Given the description of an element on the screen output the (x, y) to click on. 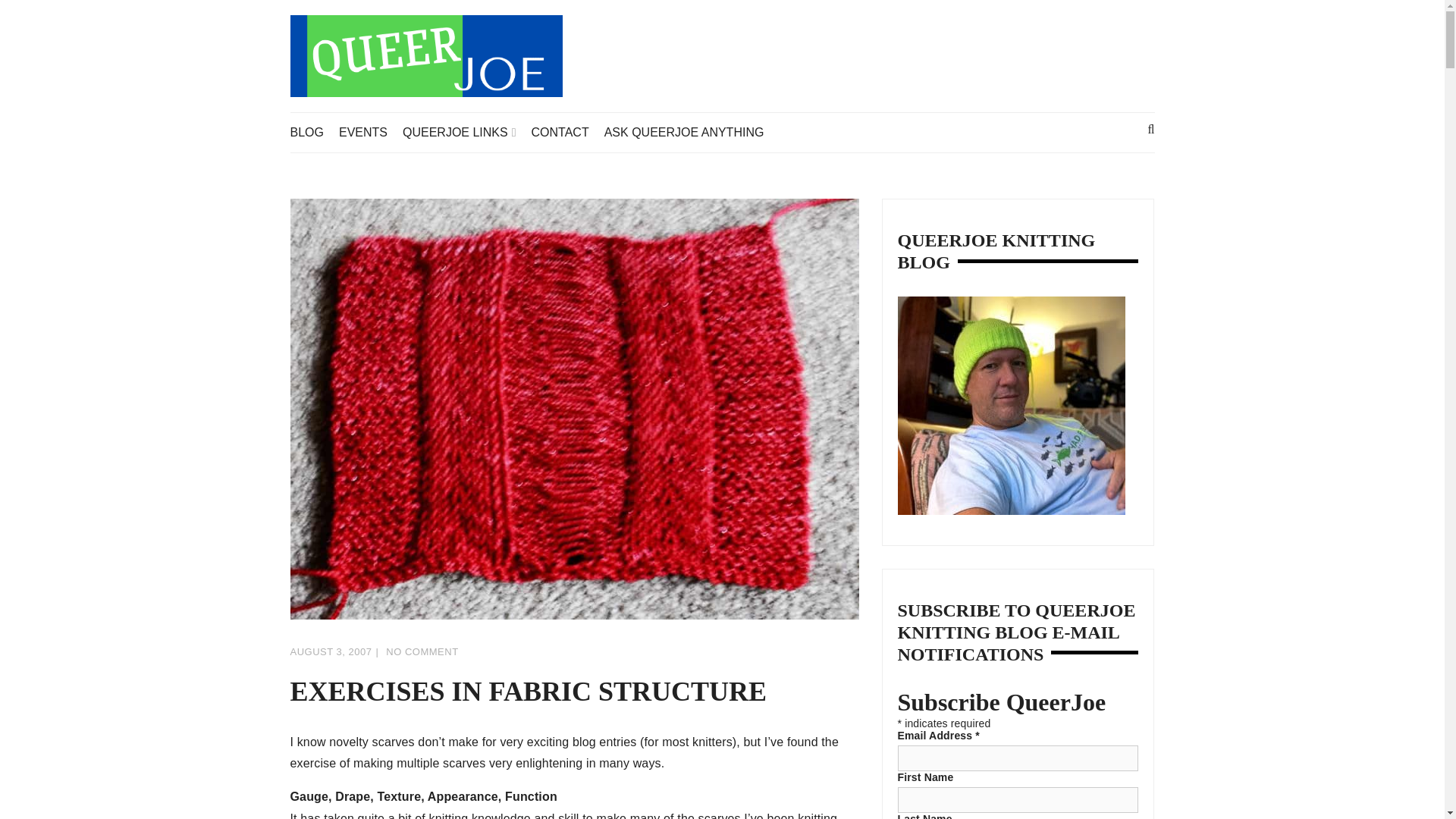
BLOG (313, 132)
QUEERJOE LINKS (467, 132)
EVENTS (371, 132)
AUGUST 3, 2007 (330, 651)
ASK QUEERJOE ANYTHING (691, 132)
CONTACT (567, 132)
